Given the description of an element on the screen output the (x, y) to click on. 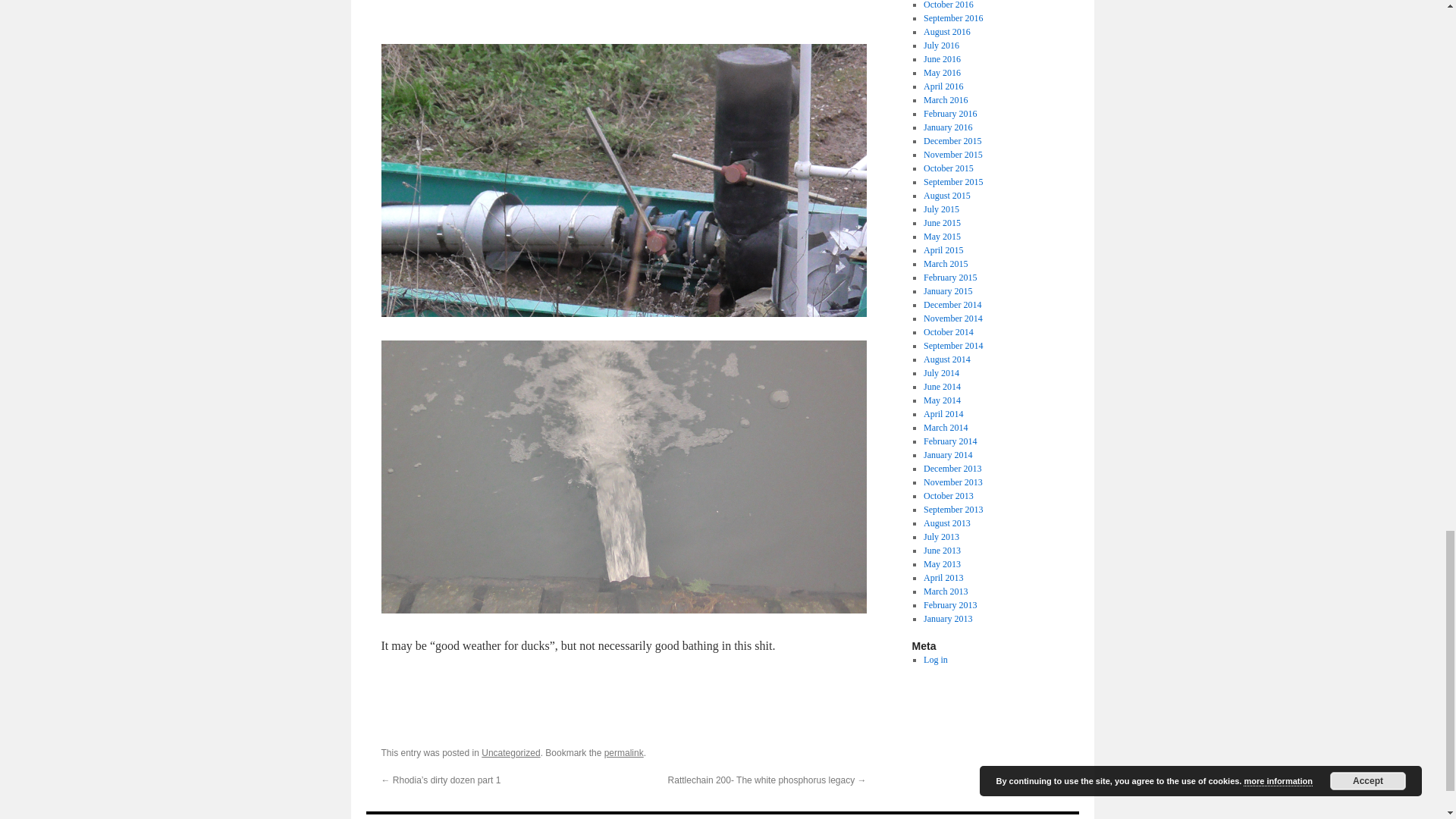
Permalink to Pump down the volume (623, 752)
